Given the description of an element on the screen output the (x, y) to click on. 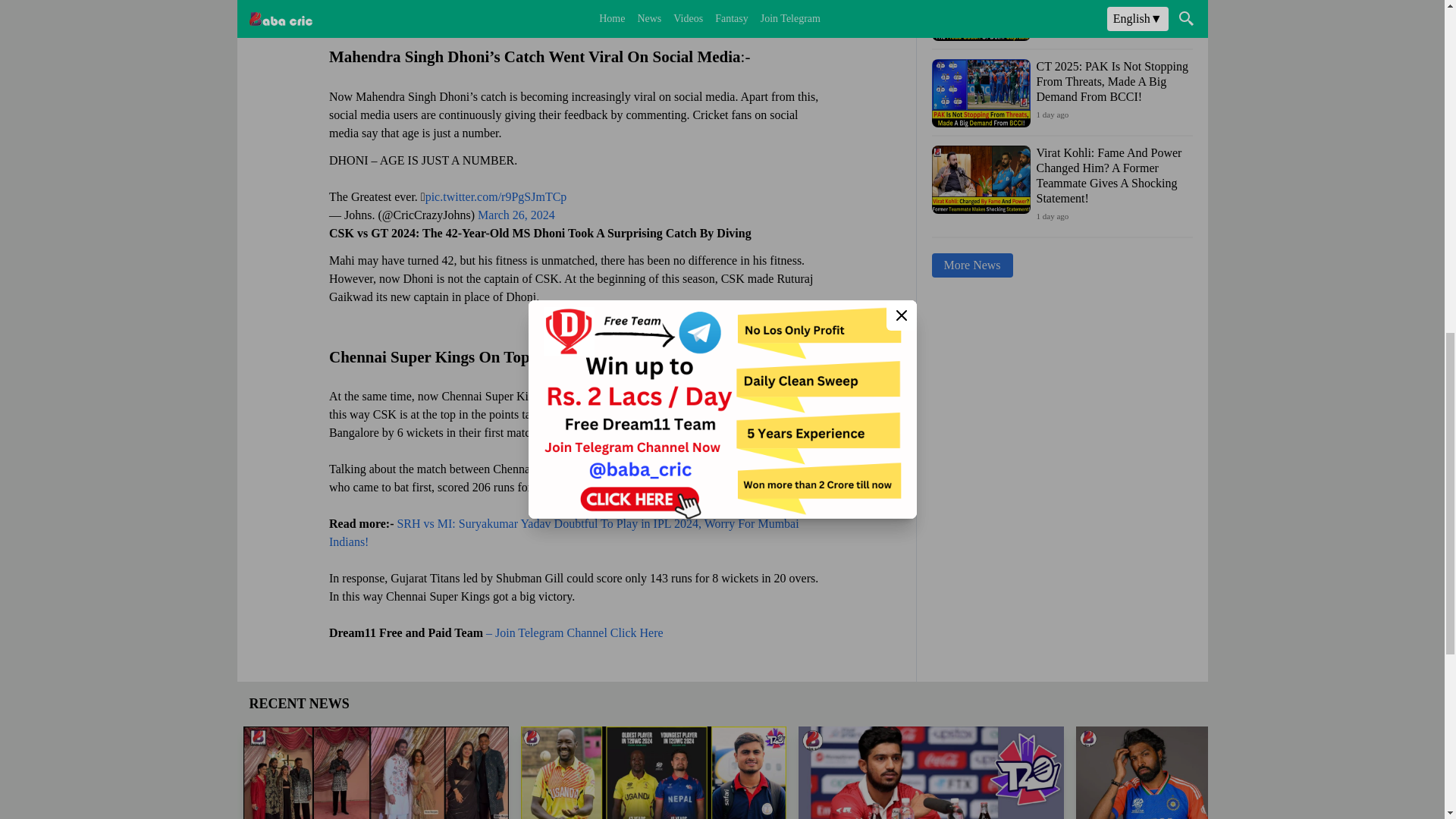
More News (971, 265)
More News (971, 264)
March 26, 2024 (515, 214)
